Given the description of an element on the screen output the (x, y) to click on. 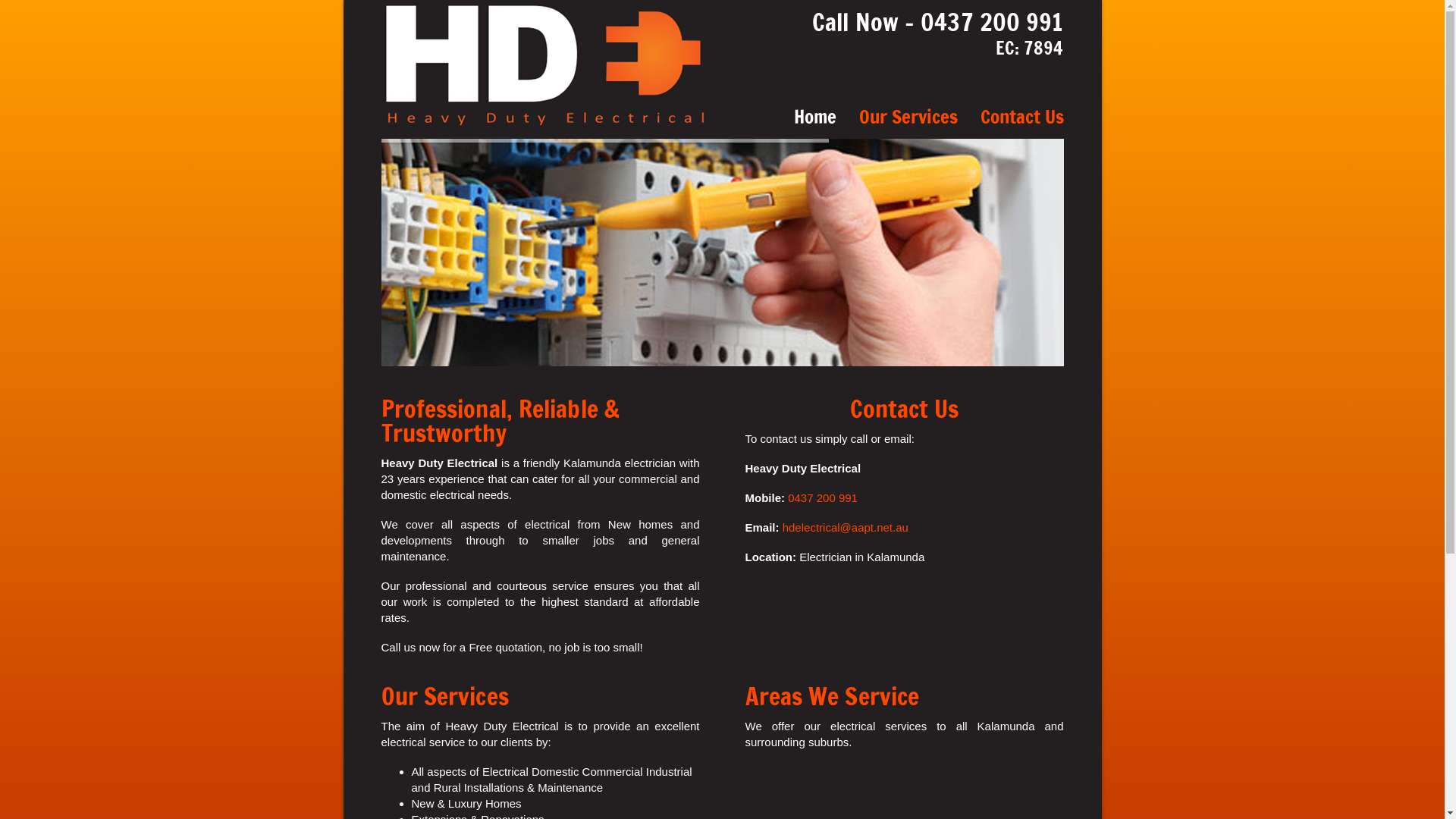
Home Element type: text (814, 116)
0437 200 991 Element type: text (822, 497)
hdelectrical@aapt.net.au Element type: text (845, 526)
Contact Us Element type: text (1022, 116)
Our Services Element type: text (908, 116)
